Given the description of an element on the screen output the (x, y) to click on. 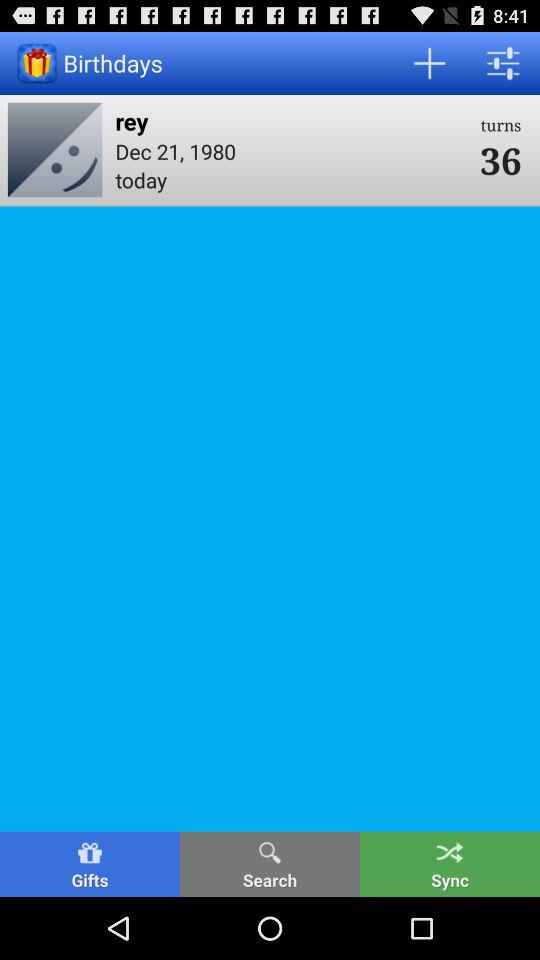
tap the rey icon (291, 120)
